Given the description of an element on the screen output the (x, y) to click on. 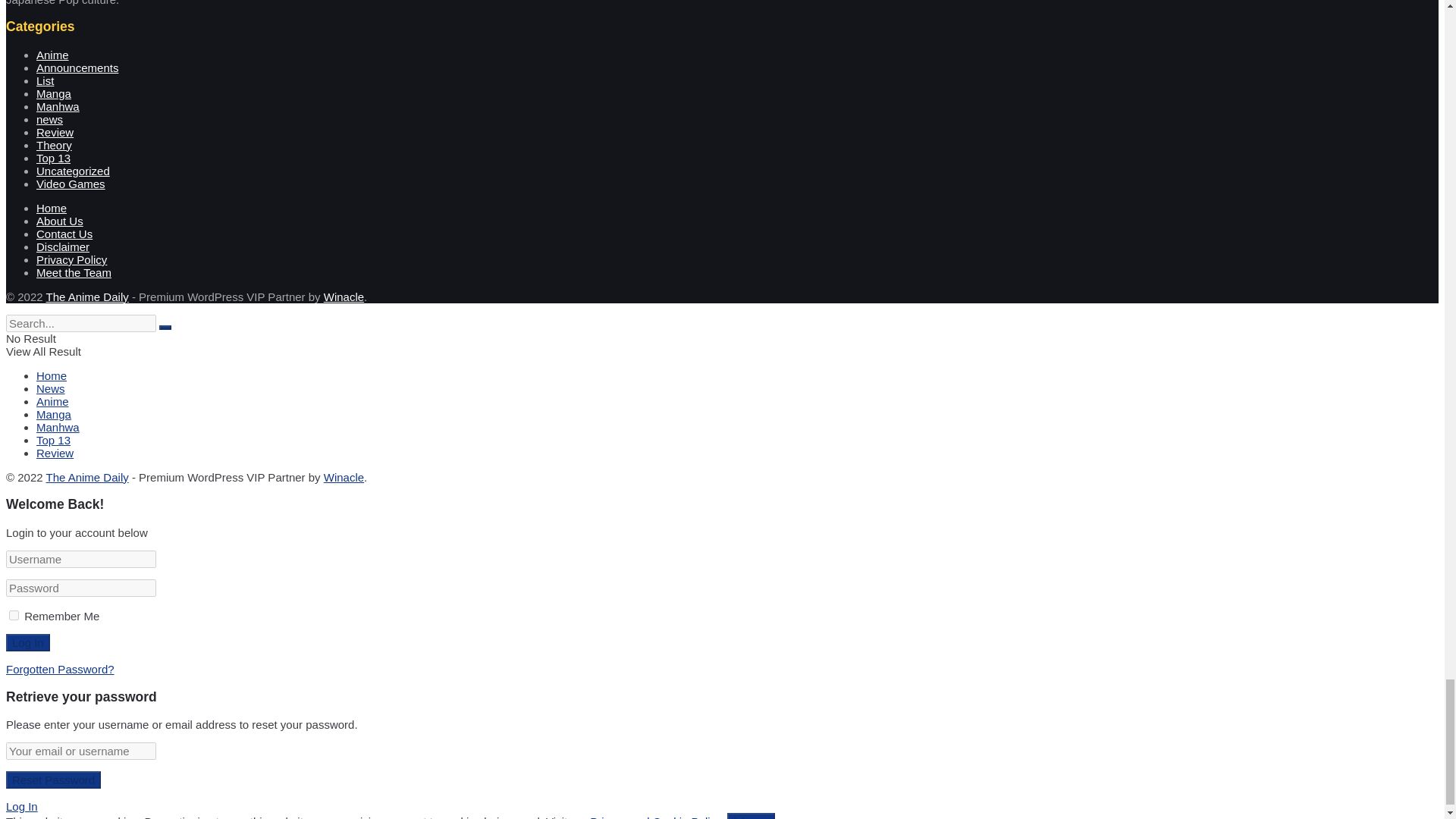
true (13, 614)
Winacle (343, 477)
Log In (27, 642)
Winacle (343, 296)
Reset Password (52, 779)
